Given the description of an element on the screen output the (x, y) to click on. 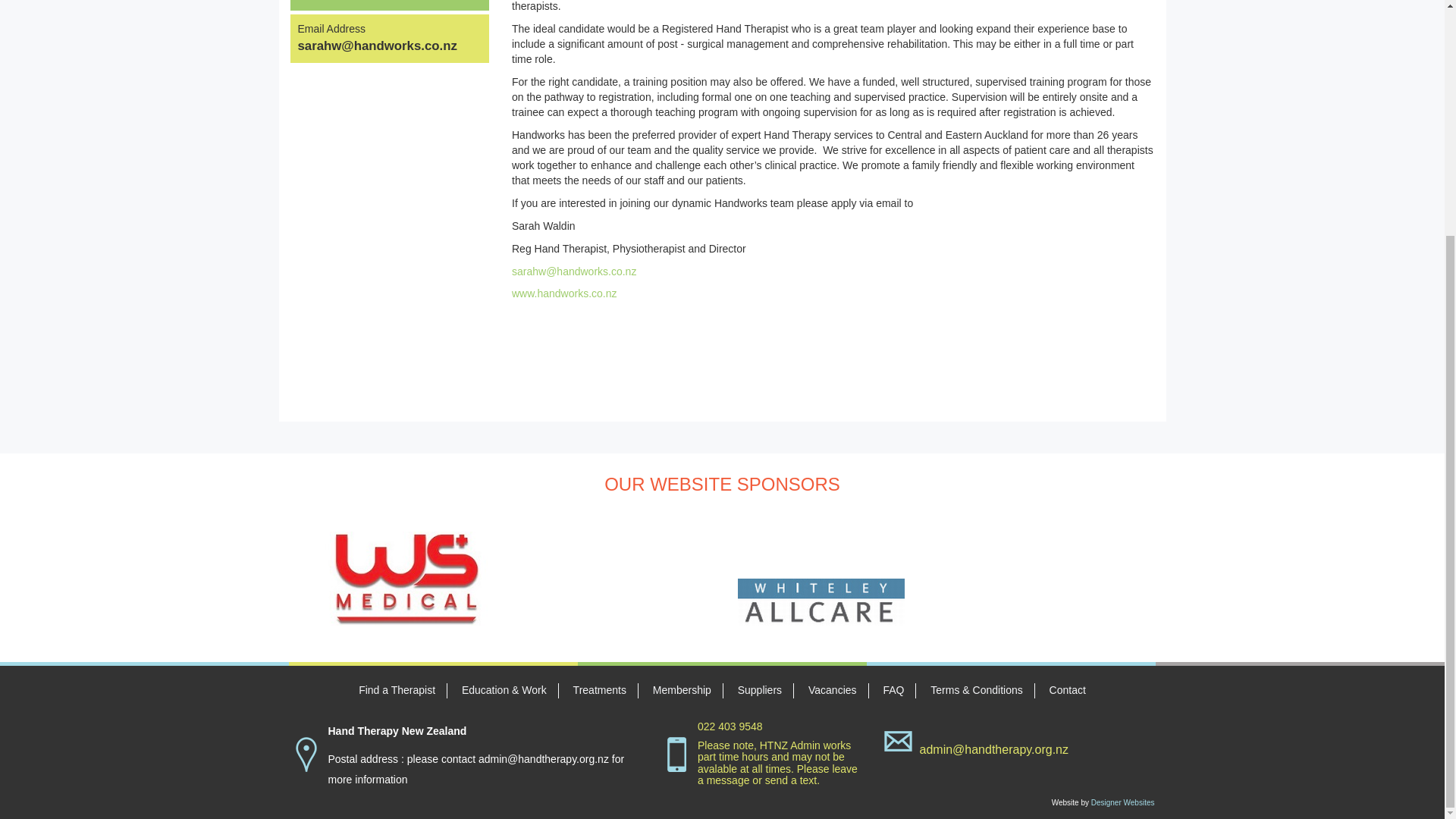
www.handworks.co.nz (564, 293)
